Given the description of an element on the screen output the (x, y) to click on. 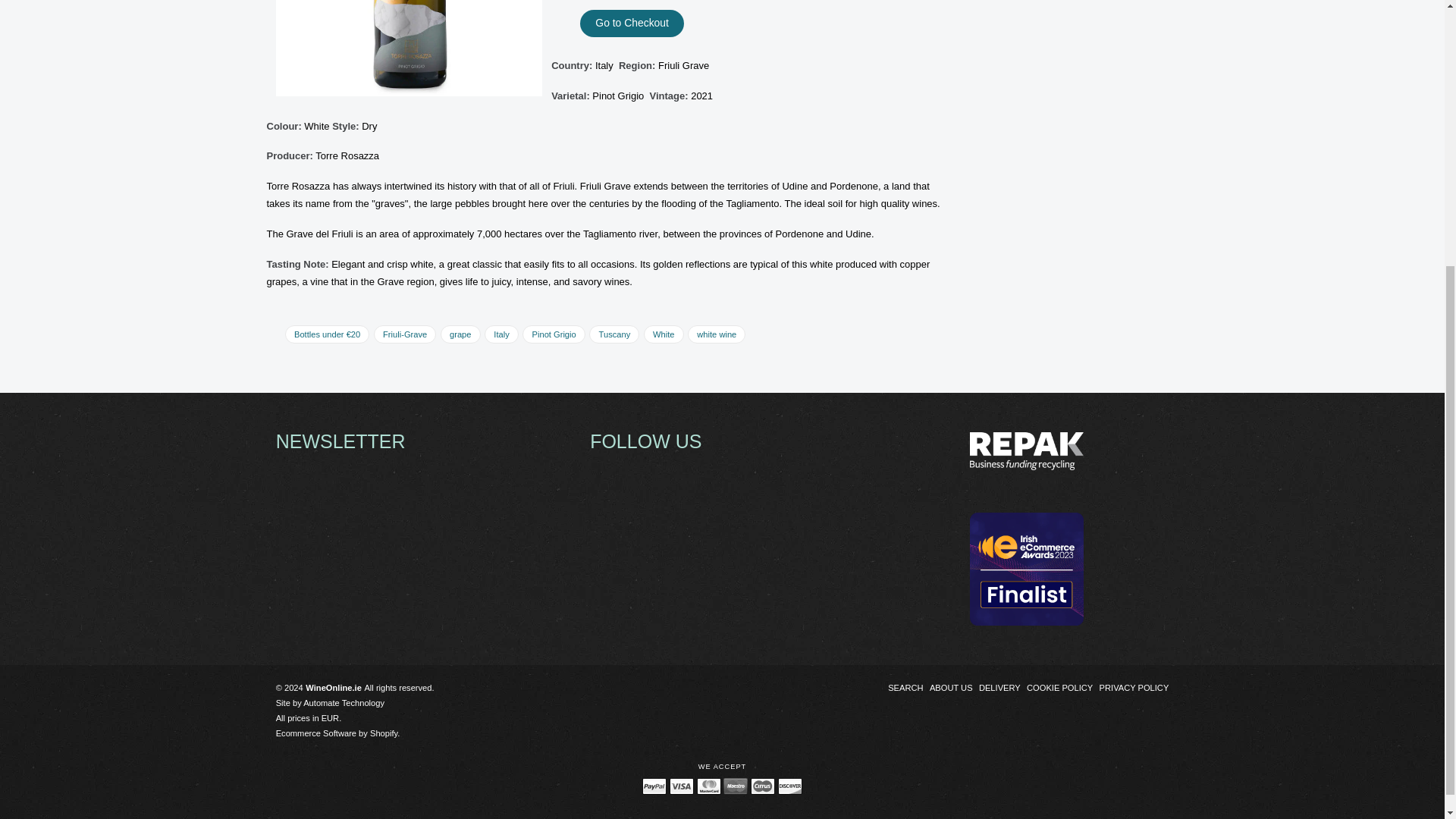
Mastercard (708, 785)
Cirrus (762, 785)
Visa (681, 785)
Paypal (654, 785)
Discover (789, 785)
Maestro (735, 785)
